Given the description of an element on the screen output the (x, y) to click on. 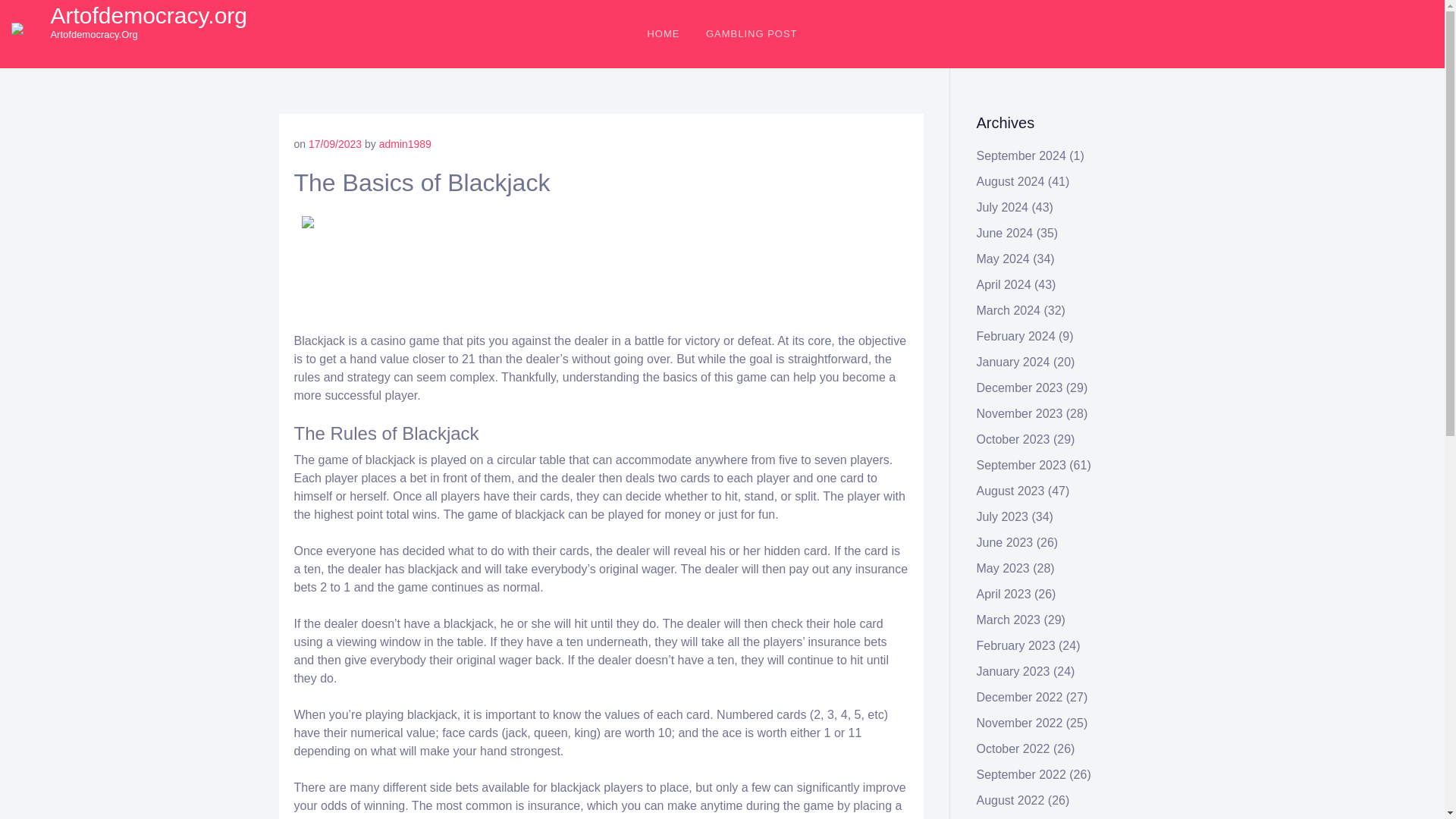
March 2024 (1008, 309)
April 2024 (1003, 284)
December 2023 (1019, 387)
August 2024 (1010, 181)
July 2024 (1002, 206)
April 2023 (1003, 594)
August 2023 (1010, 490)
October 2023 (1012, 439)
GAMBLING POST (751, 33)
February 2024 (1015, 336)
